Given the description of an element on the screen output the (x, y) to click on. 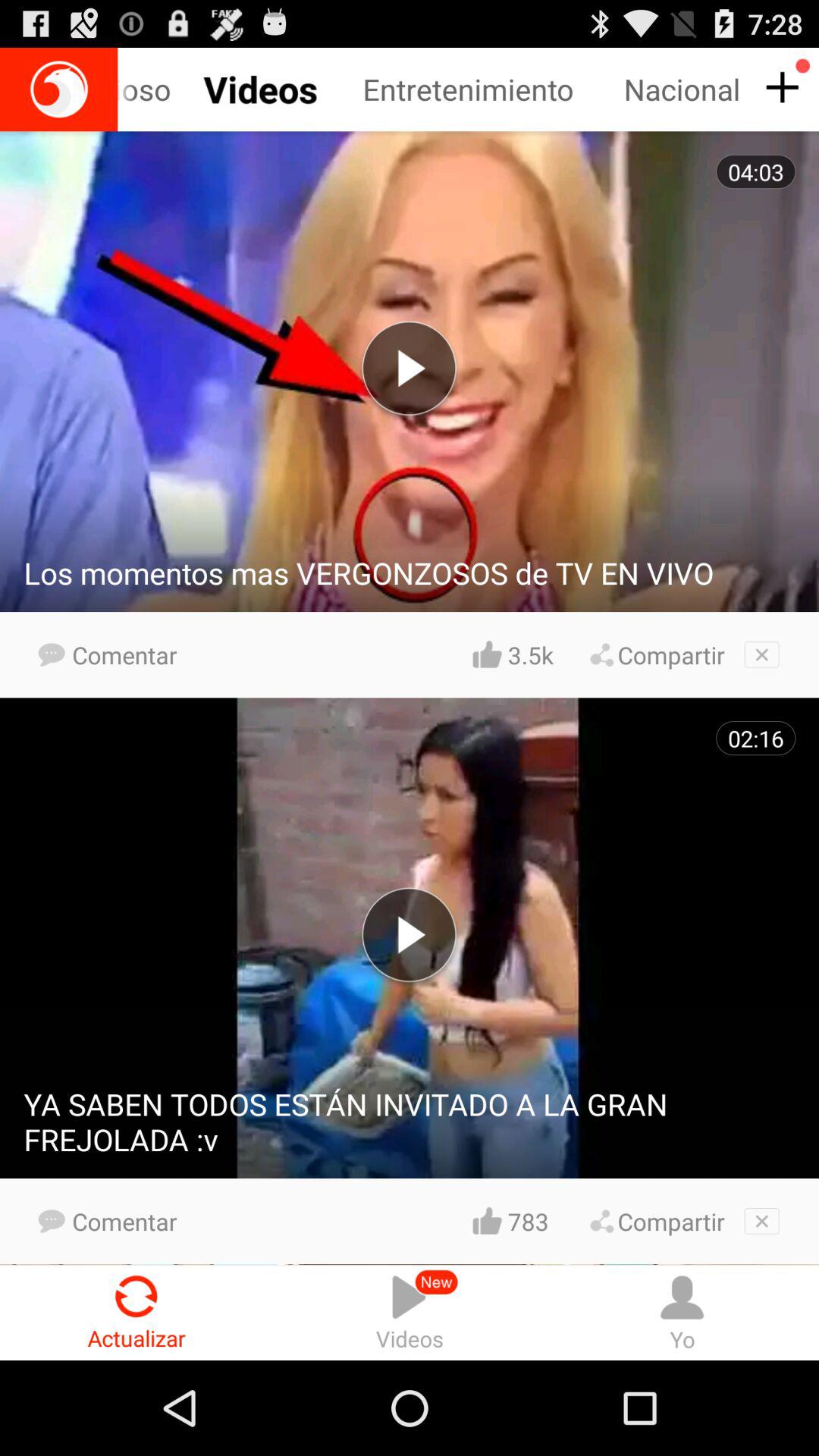
turn off gracioso (169, 89)
